Given the description of an element on the screen output the (x, y) to click on. 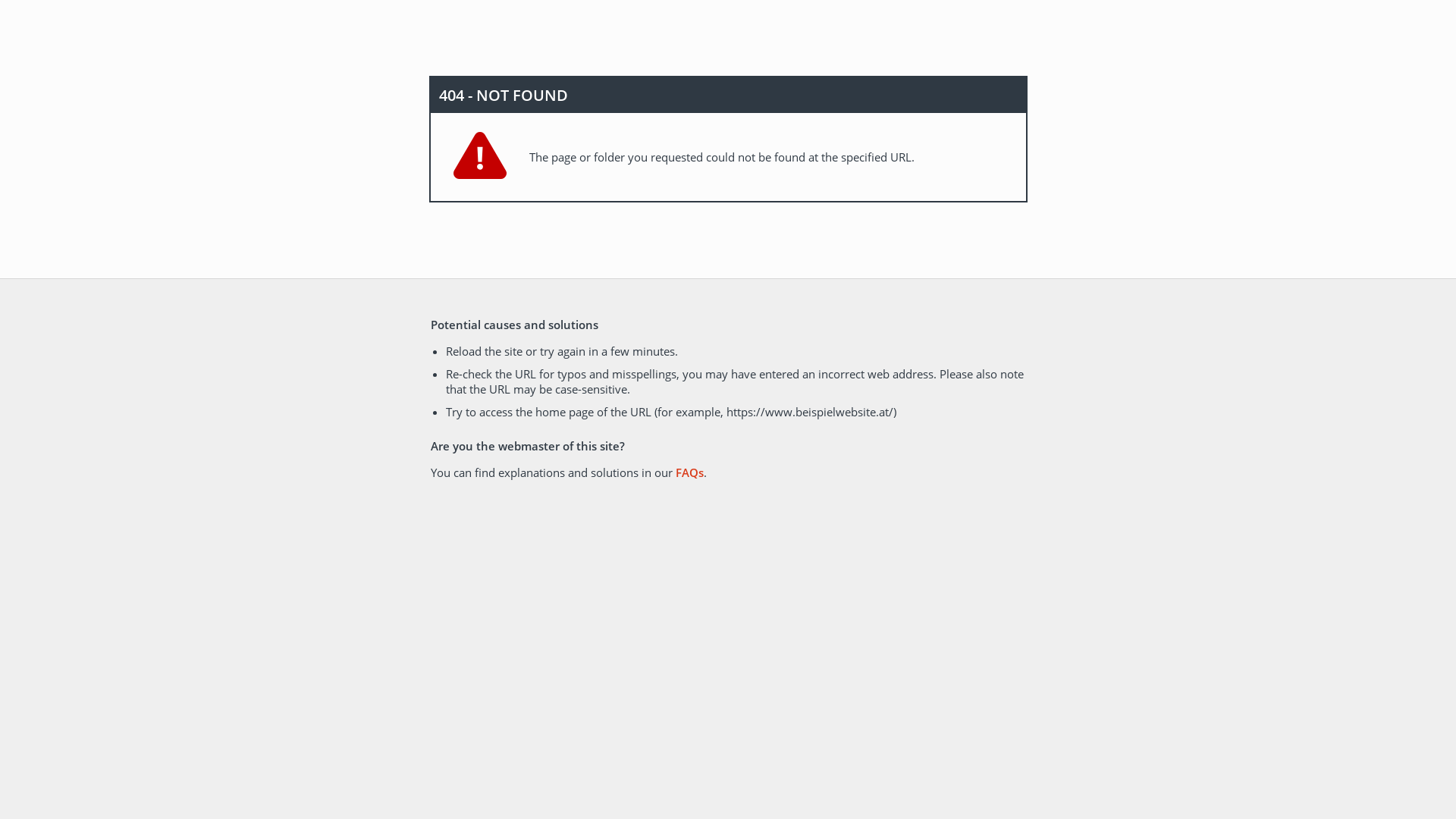
FAQs Element type: text (688, 472)
